Given the description of an element on the screen output the (x, y) to click on. 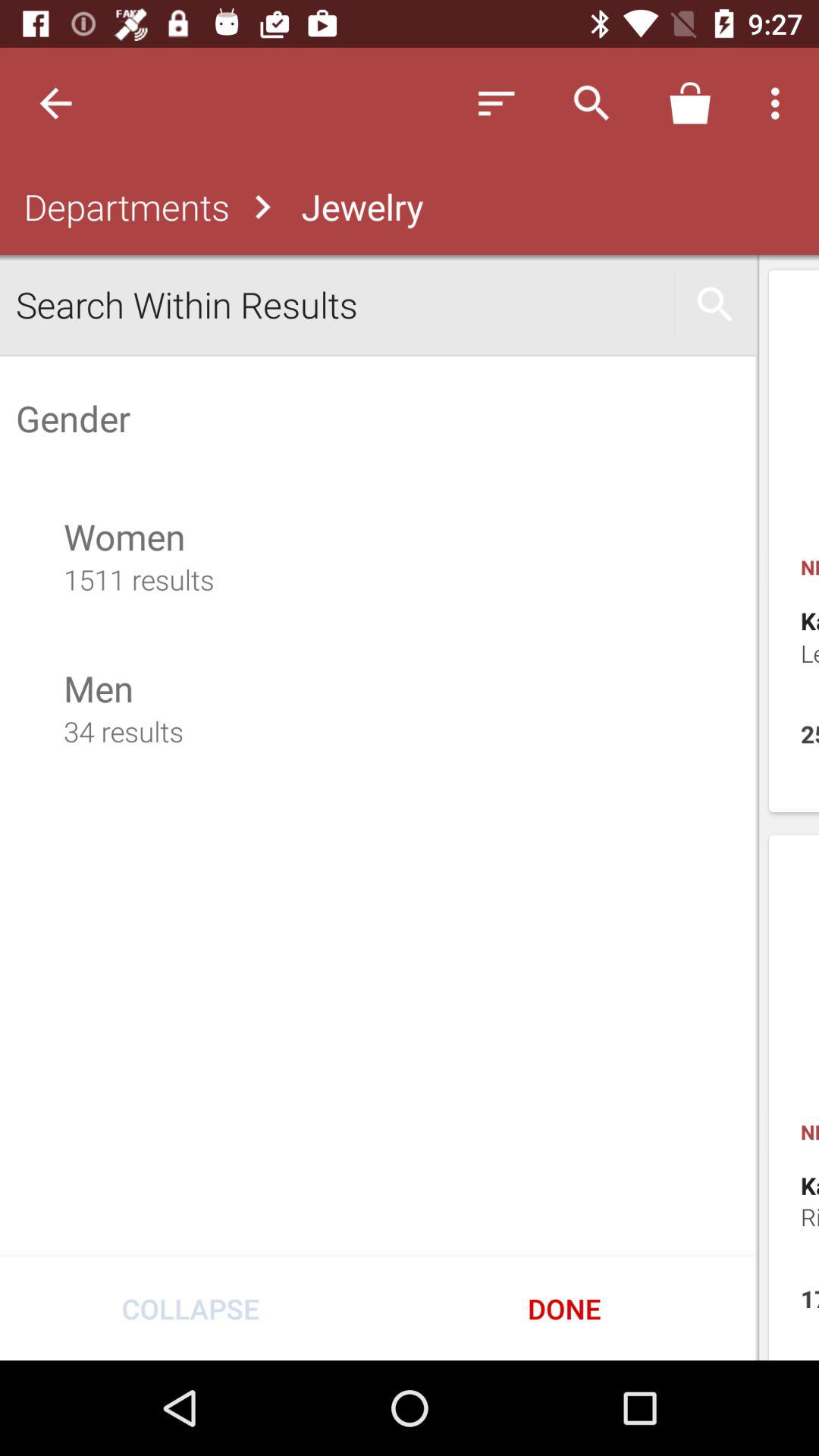
choose item next to done icon (190, 1308)
